Given the description of an element on the screen output the (x, y) to click on. 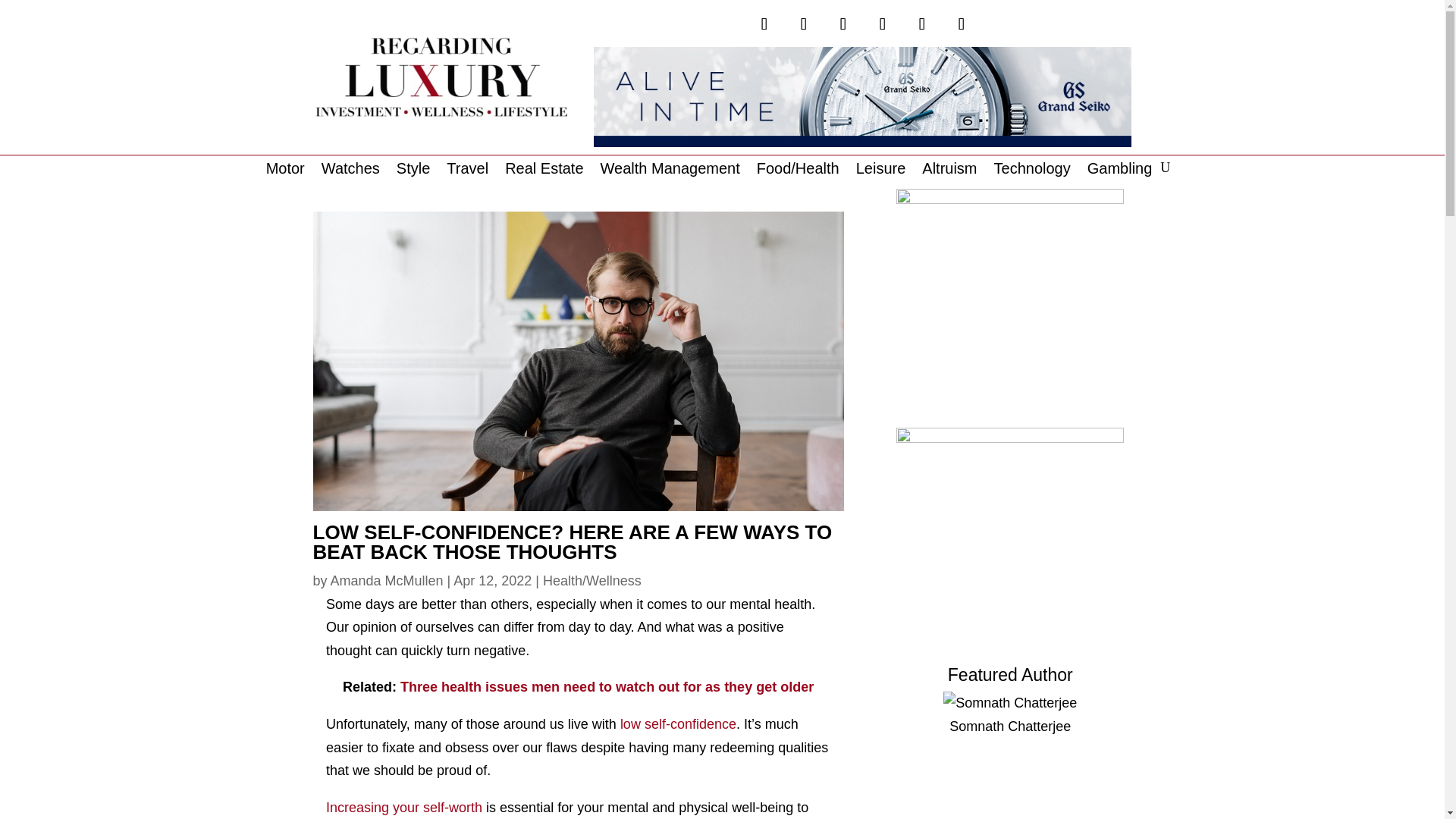
Motor (285, 170)
Wealth Management (669, 170)
Altruism (948, 170)
Follow on Facebook (804, 23)
Follow on LinkedIn (961, 23)
Regarding Luxury banner Logo - 420x142 (441, 77)
Gambling (1120, 170)
Follow on Pinterest (882, 23)
Follow on Instagram (843, 23)
Style (412, 170)
